Given the description of an element on the screen output the (x, y) to click on. 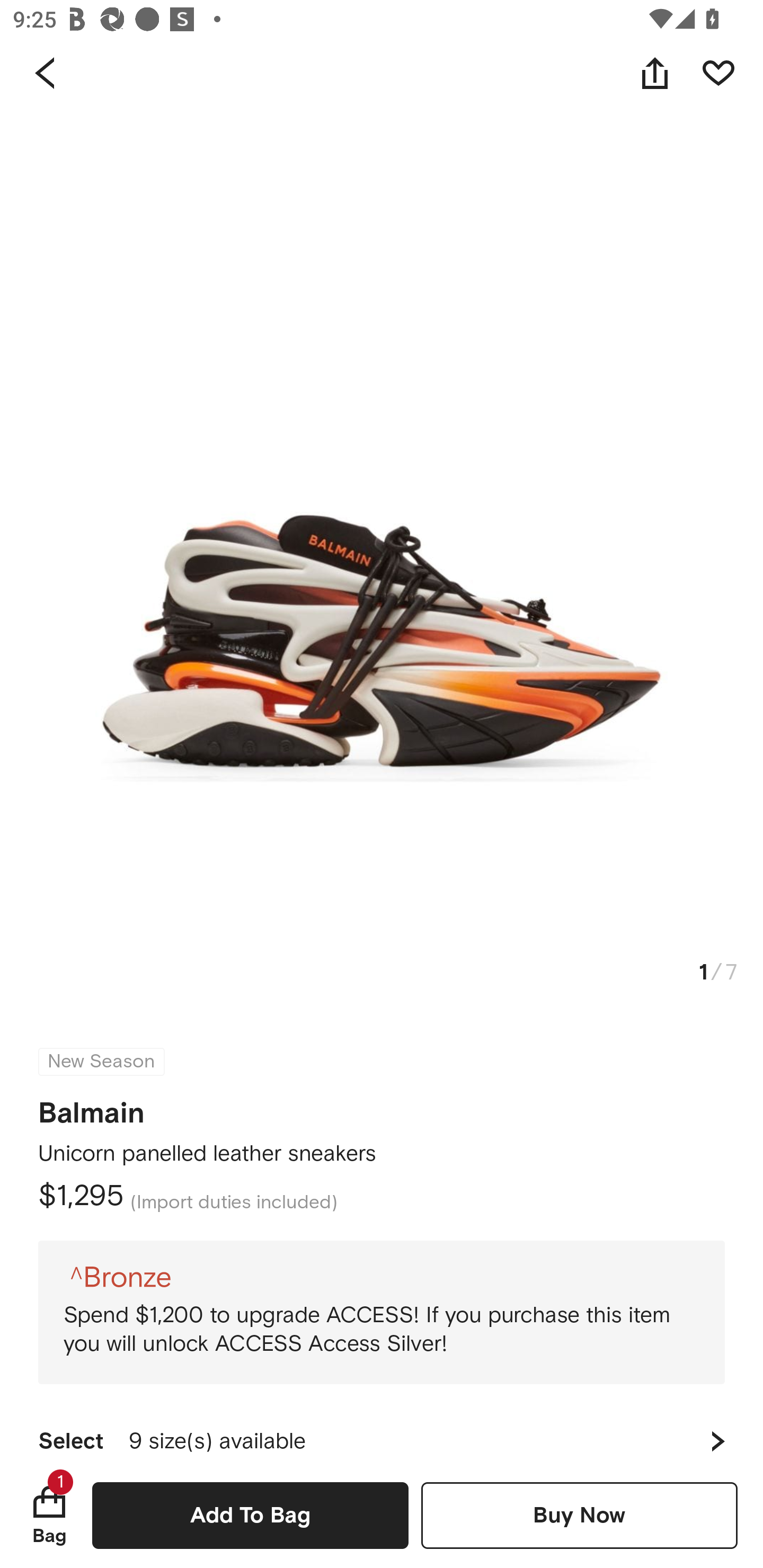
Balmain (91, 1107)
Select 9 size(s) available (381, 1432)
Bag 1 (49, 1515)
Add To Bag (250, 1515)
Buy Now (579, 1515)
